Given the description of an element on the screen output the (x, y) to click on. 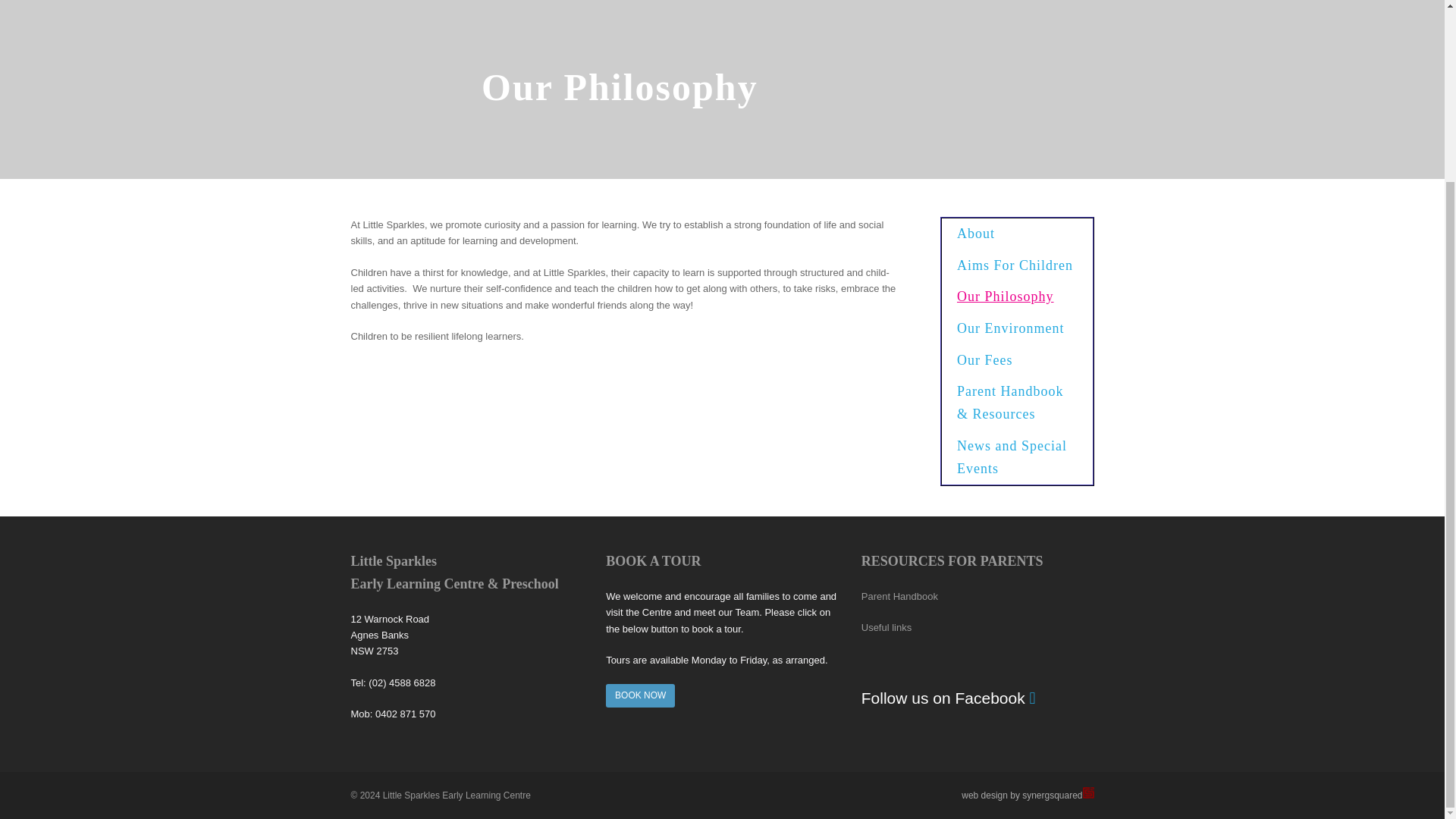
News and Special Events (1017, 457)
0402 871 570 (405, 713)
Our Fees (1017, 360)
Our Philosophy (1017, 296)
News and Special Events (1017, 457)
Our Environment (1017, 328)
Aims For Children (1017, 265)
BOOK NOW (640, 695)
BOOK NOW (640, 695)
About (1017, 234)
